Given the description of an element on the screen output the (x, y) to click on. 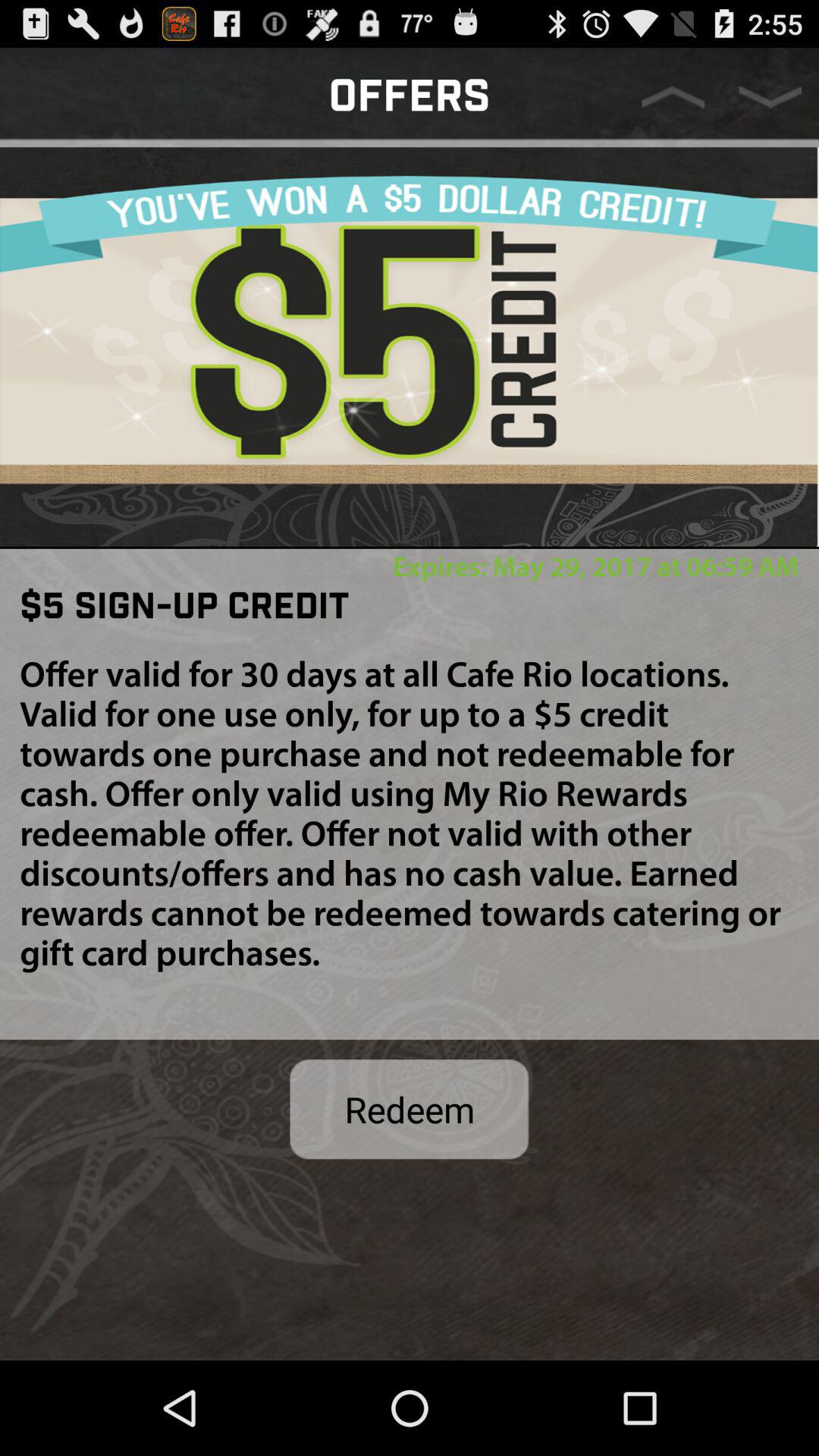
move page up (672, 96)
